Given the description of an element on the screen output the (x, y) to click on. 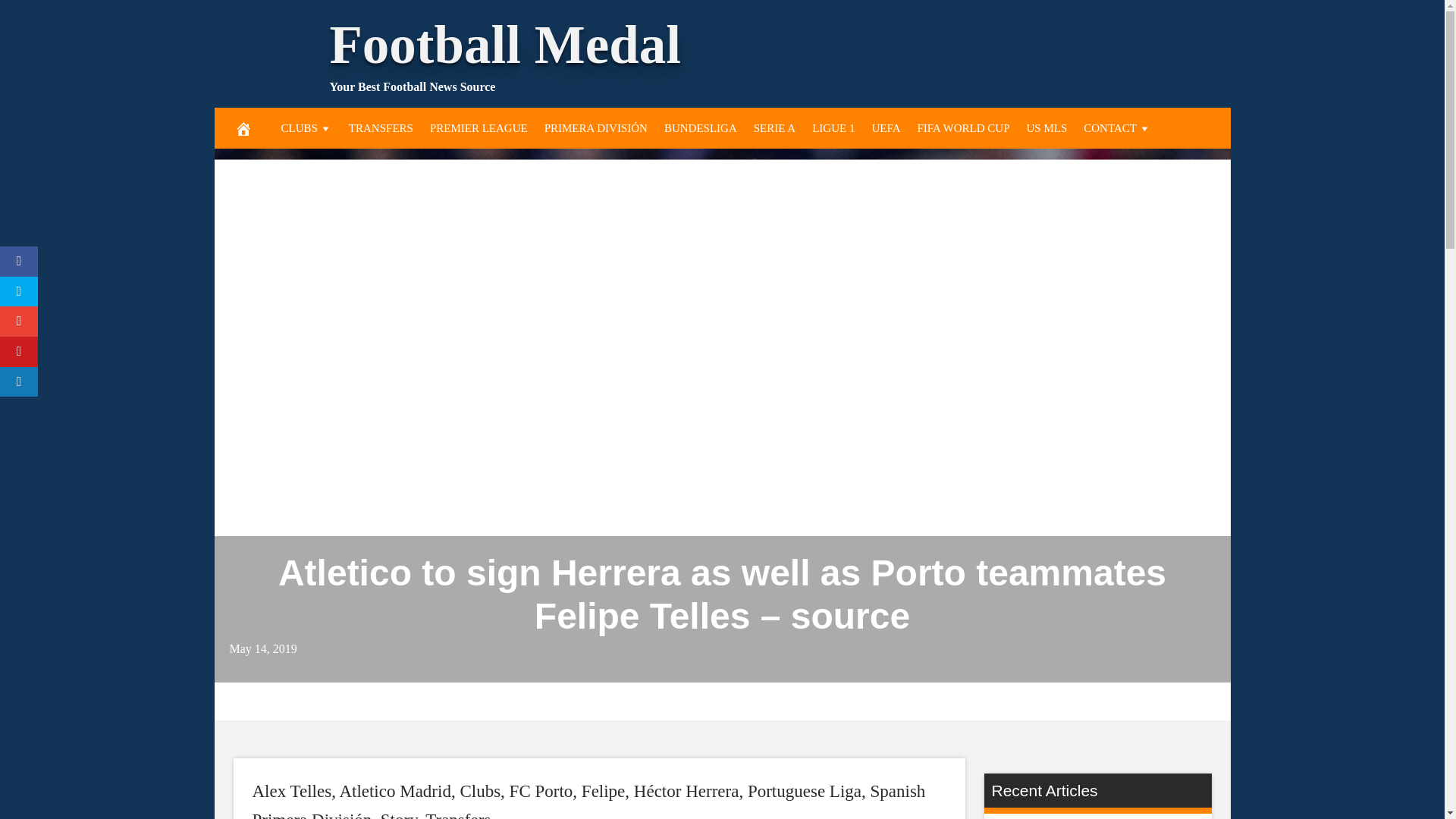
Football Medal (504, 44)
Atletico Madrid (395, 791)
CLUBS (306, 127)
Story (398, 814)
Transfers (457, 814)
Felipe (603, 791)
Portuguese Liga (804, 791)
Clubs (480, 791)
FC Porto (541, 791)
Alex Telles (291, 791)
